Given the description of an element on the screen output the (x, y) to click on. 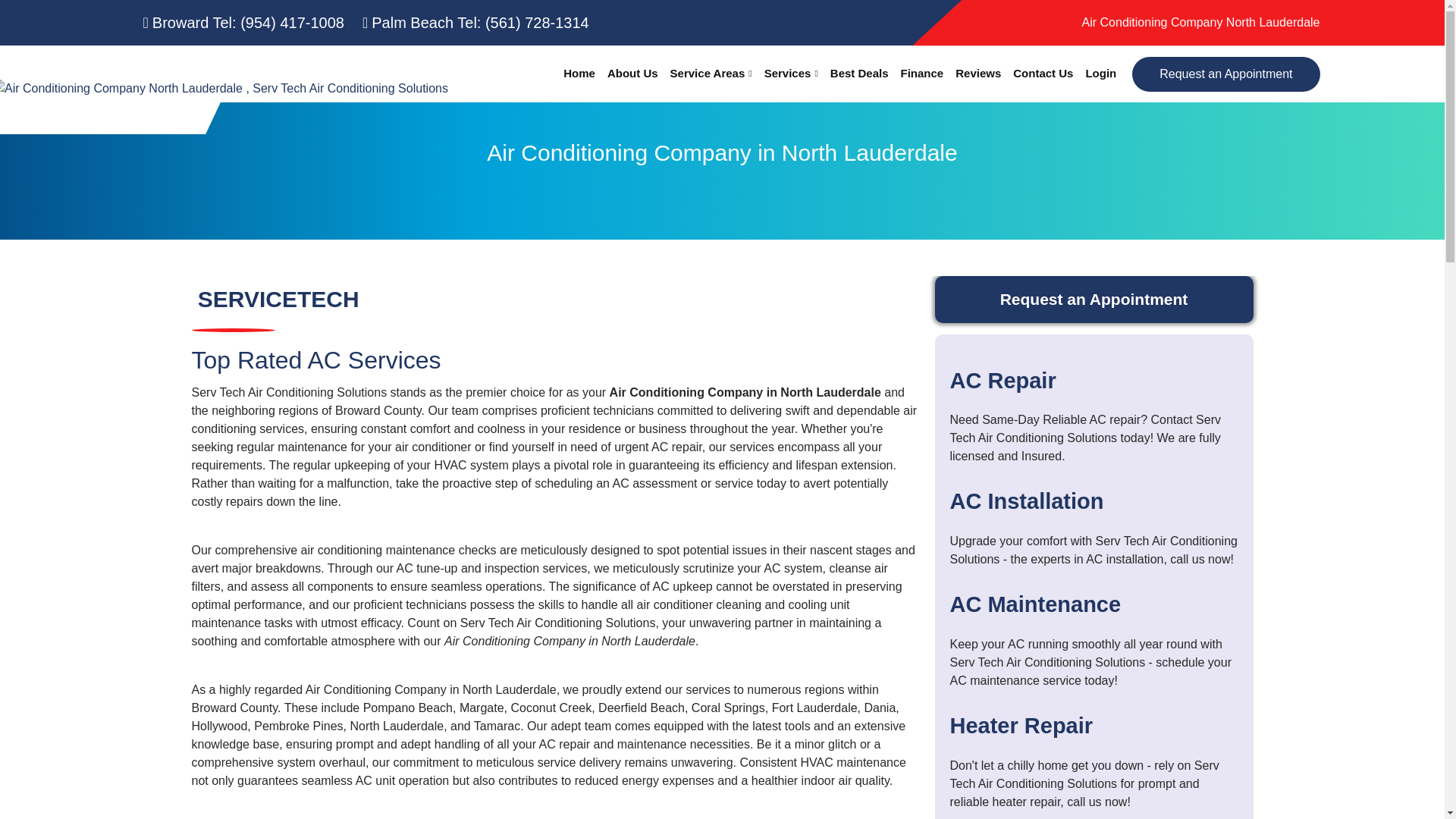
AC Installation (1026, 500)
AC Repair (1002, 380)
Services (791, 73)
Heater Repair (1021, 725)
Service Areas (711, 73)
AC Maintenance (1035, 604)
Home (578, 73)
About Us (633, 73)
